Given the description of an element on the screen output the (x, y) to click on. 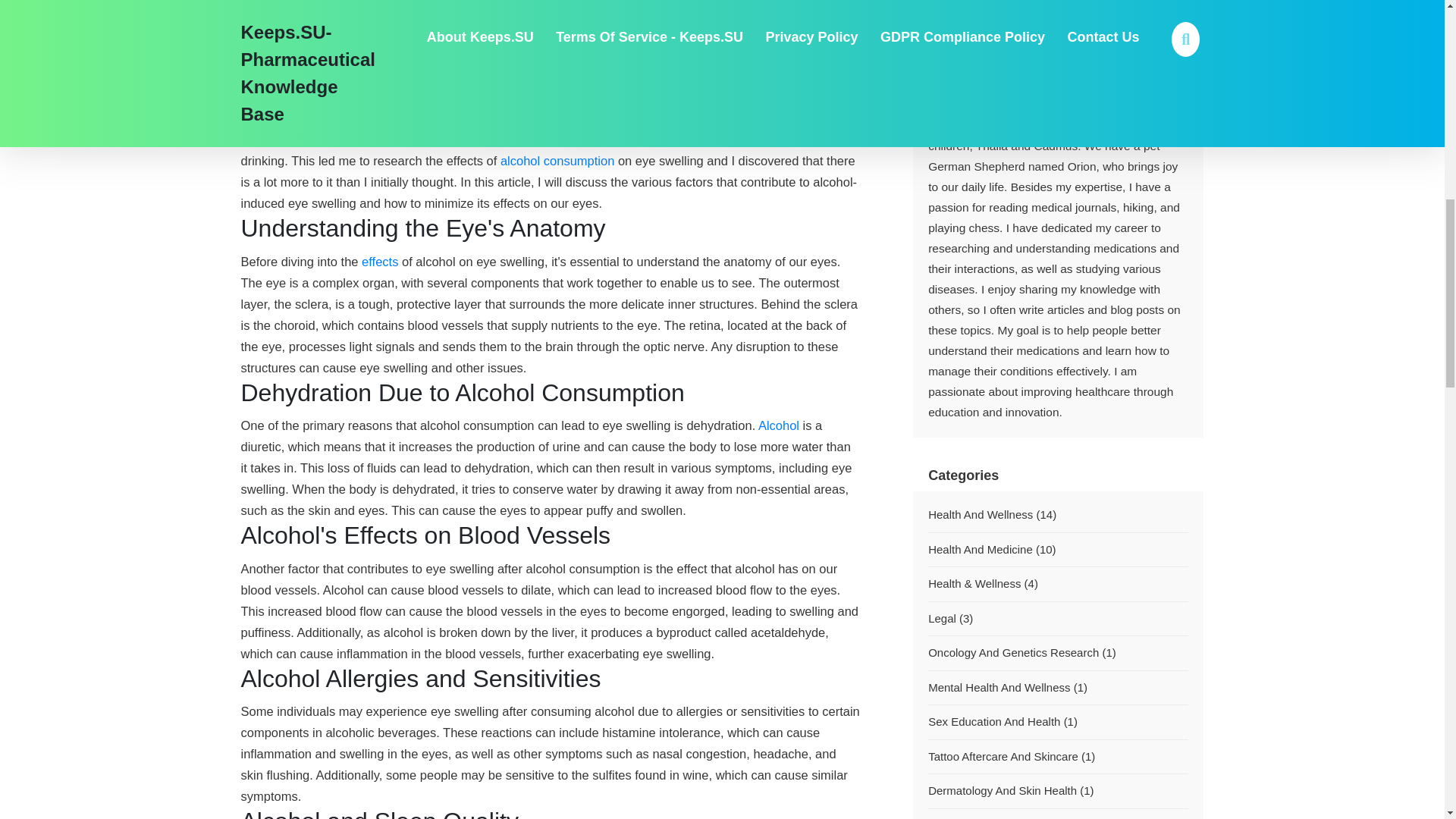
Alcohol Effects on the P2 component of Auditory Evoked ... (379, 261)
effects (379, 261)
Alcohol (778, 425)
alcohol consumption (557, 160)
